Given the description of an element on the screen output the (x, y) to click on. 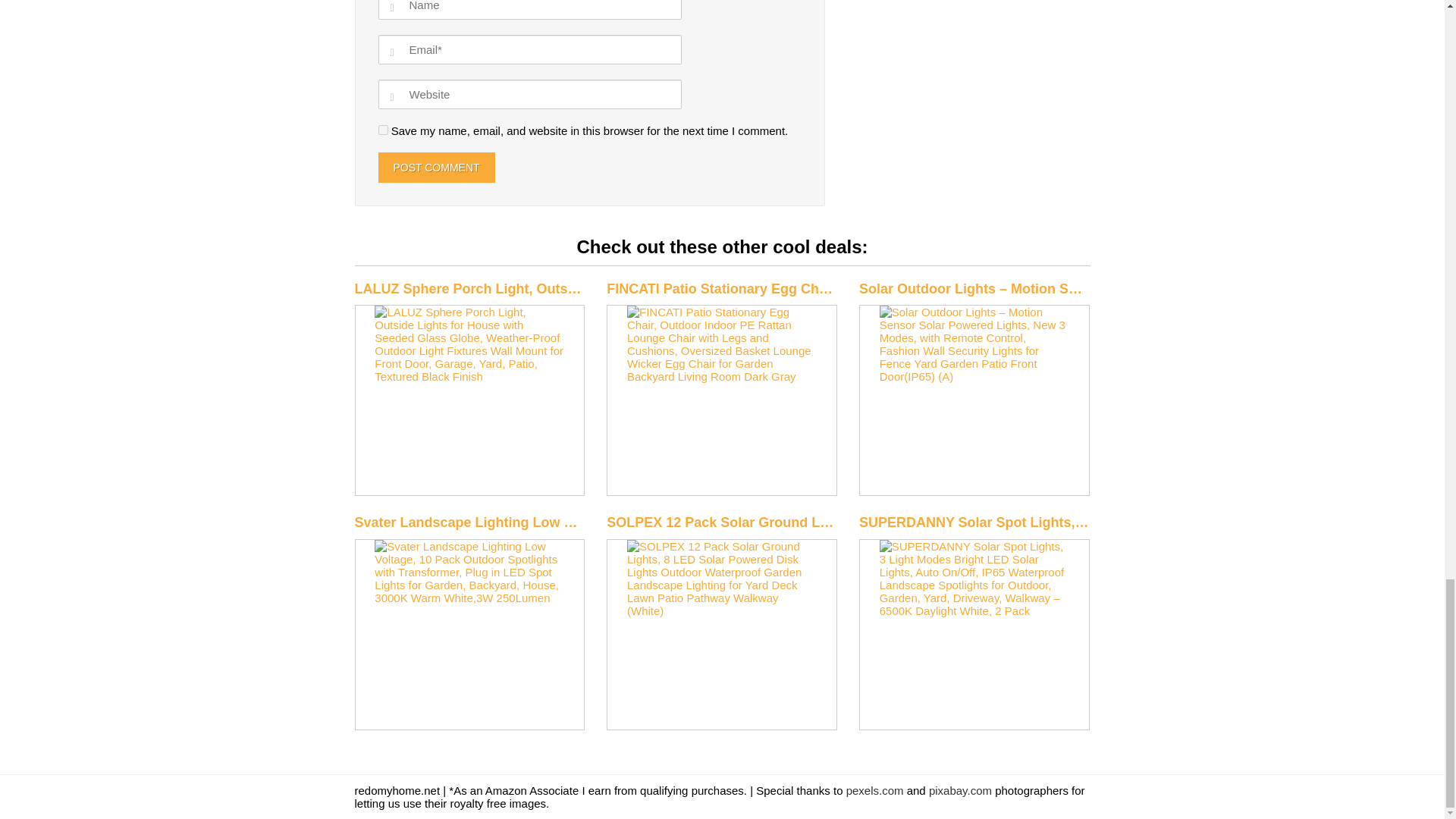
Post Comment (436, 166)
Post Comment (436, 166)
yes (382, 129)
